Given the description of an element on the screen output the (x, y) to click on. 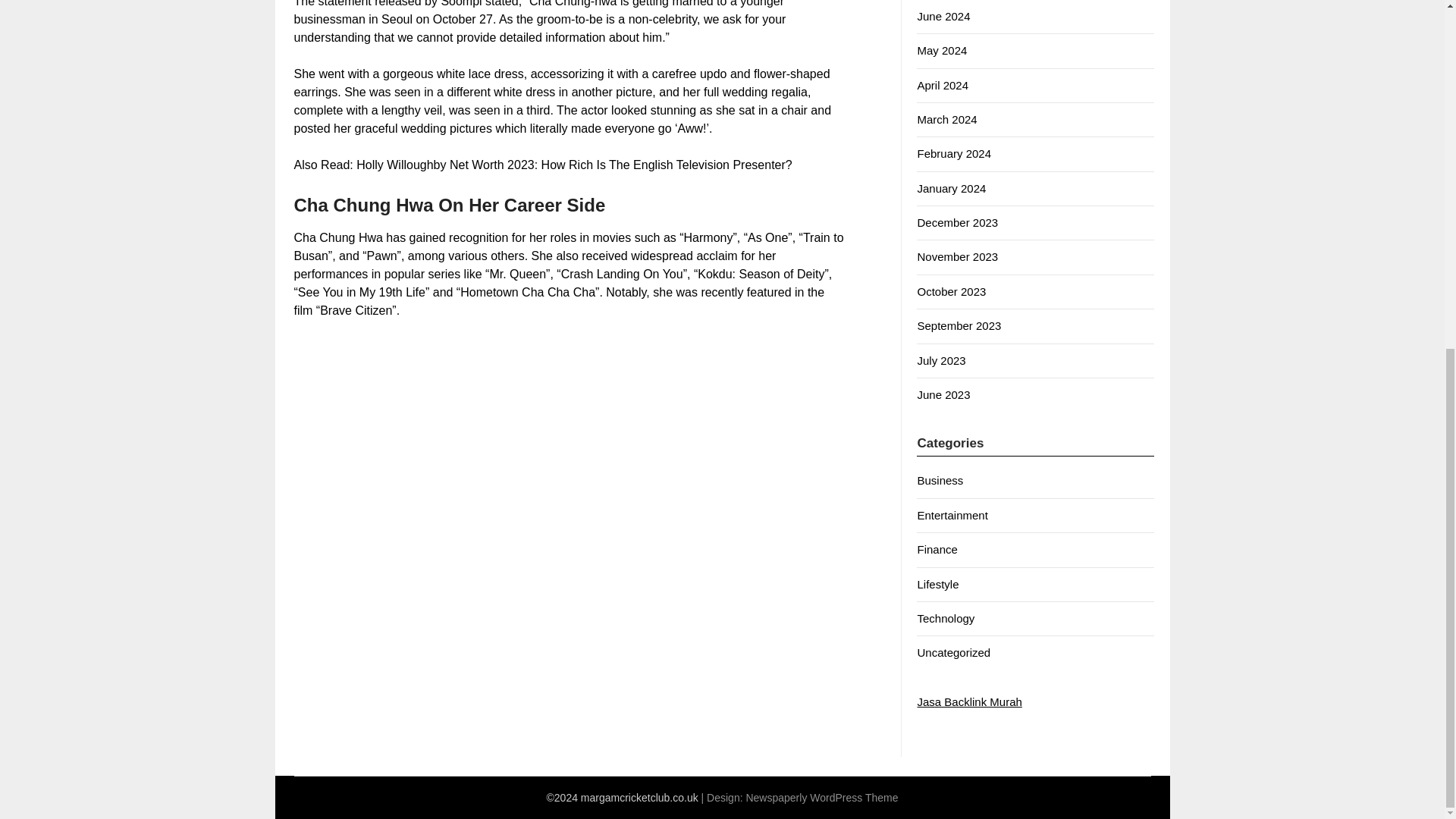
December 2023 (957, 222)
March 2024 (946, 119)
February 2024 (954, 153)
November 2023 (957, 256)
June 2024 (943, 15)
April 2024 (942, 84)
January 2024 (951, 187)
May 2024 (941, 50)
October 2023 (951, 291)
